Given the description of an element on the screen output the (x, y) to click on. 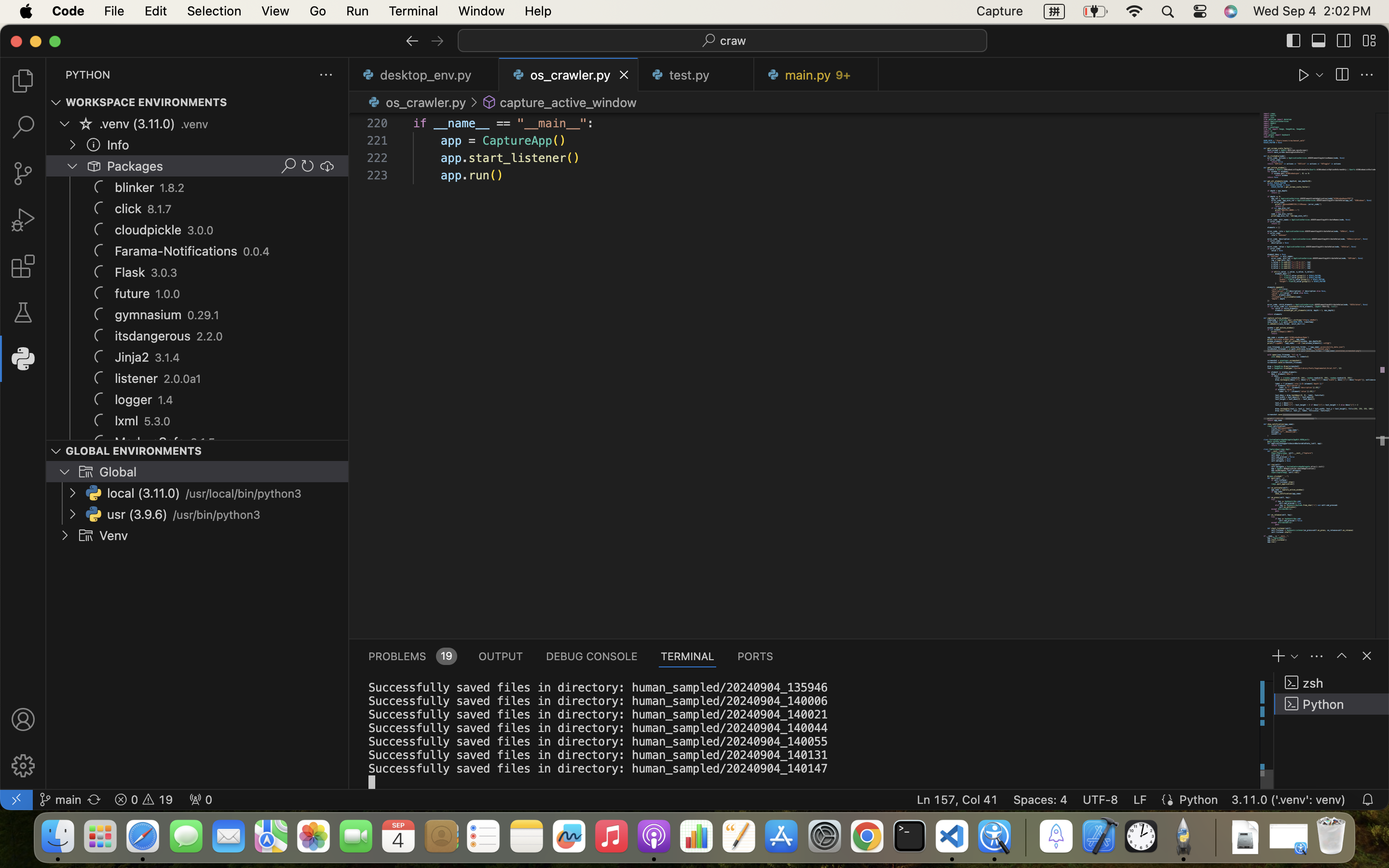
blinker Element type: AXStaticText (134, 187)
Jinja2 Element type: AXStaticText (131, 357)
future Element type: AXStaticText (132, 293)
0.0.4 Element type: AXStaticText (256, 251)
 Element type: AXButton (1369, 40)
